Given the description of an element on the screen output the (x, y) to click on. 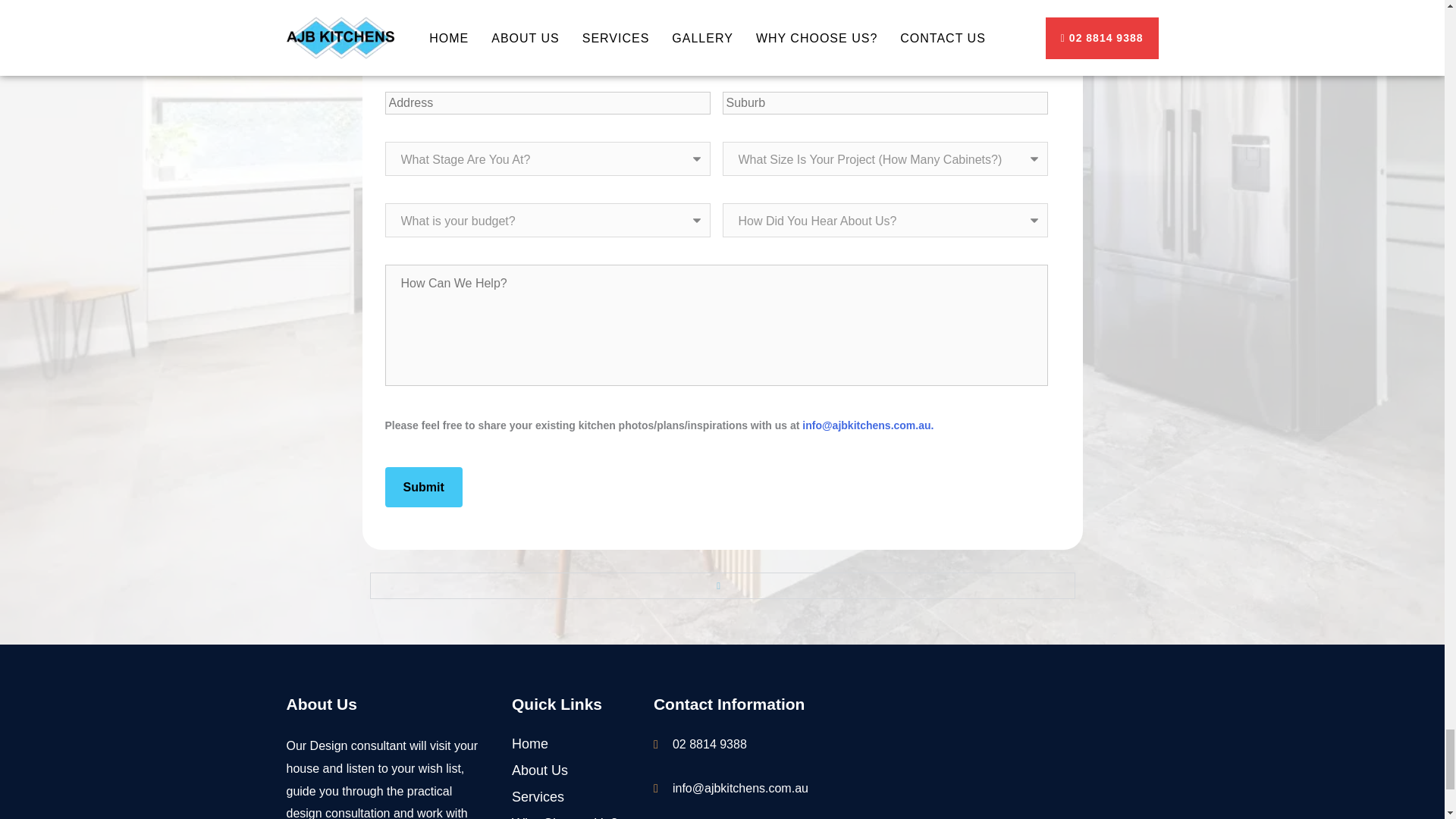
Services (567, 796)
Home (567, 743)
Submit (424, 486)
Why Choose Us? (567, 816)
About Us (567, 770)
02 8814 9388 (750, 743)
Submit (424, 486)
